Given the description of an element on the screen output the (x, y) to click on. 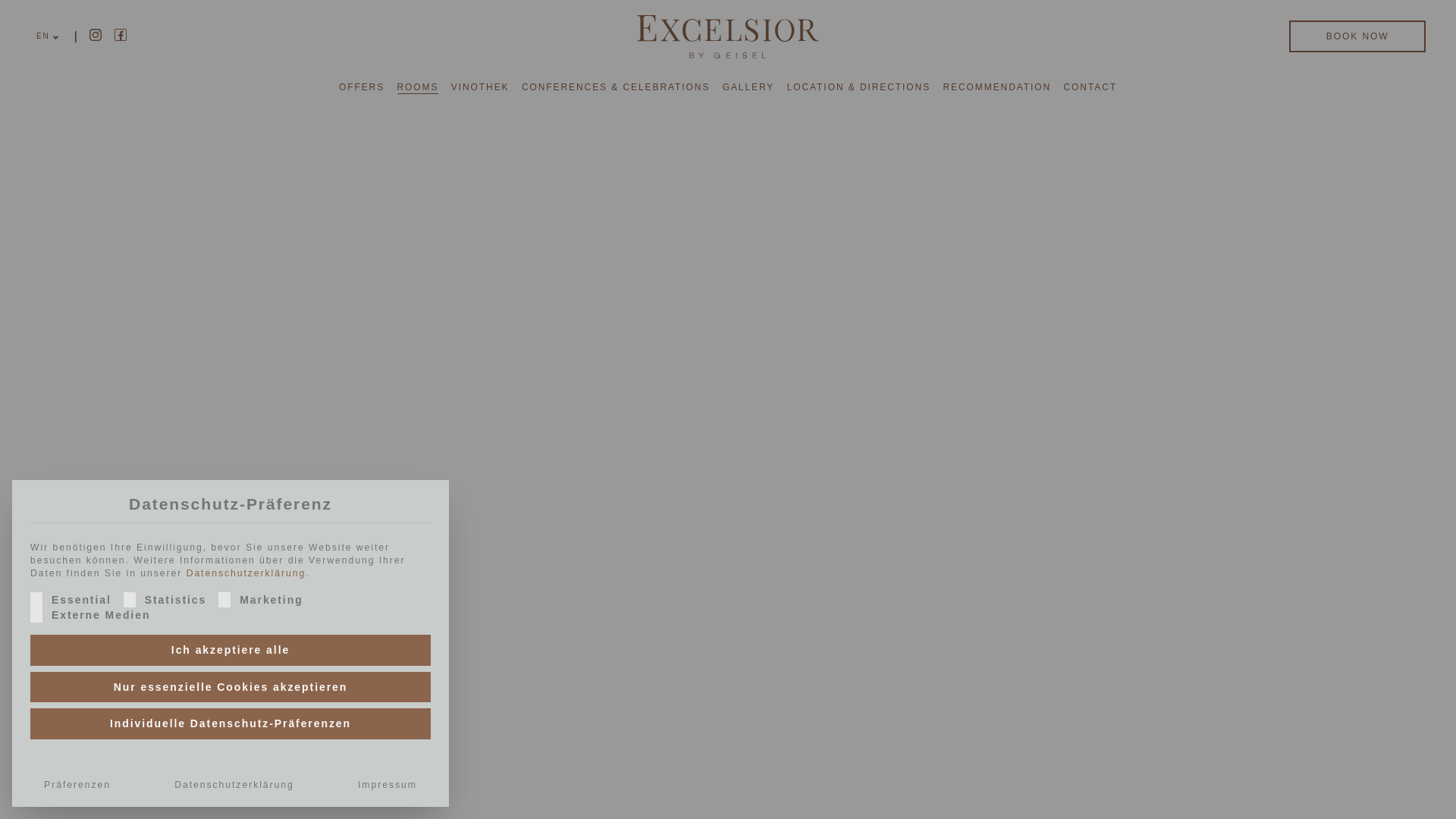
Instagram (94, 34)
ROOMS (418, 86)
VINOTHEK (480, 86)
BOOK NOW (1356, 36)
GALLERY (748, 86)
RECOMMENDATION (996, 86)
OFFERS (361, 86)
Facebook (120, 34)
